Given the description of an element on the screen output the (x, y) to click on. 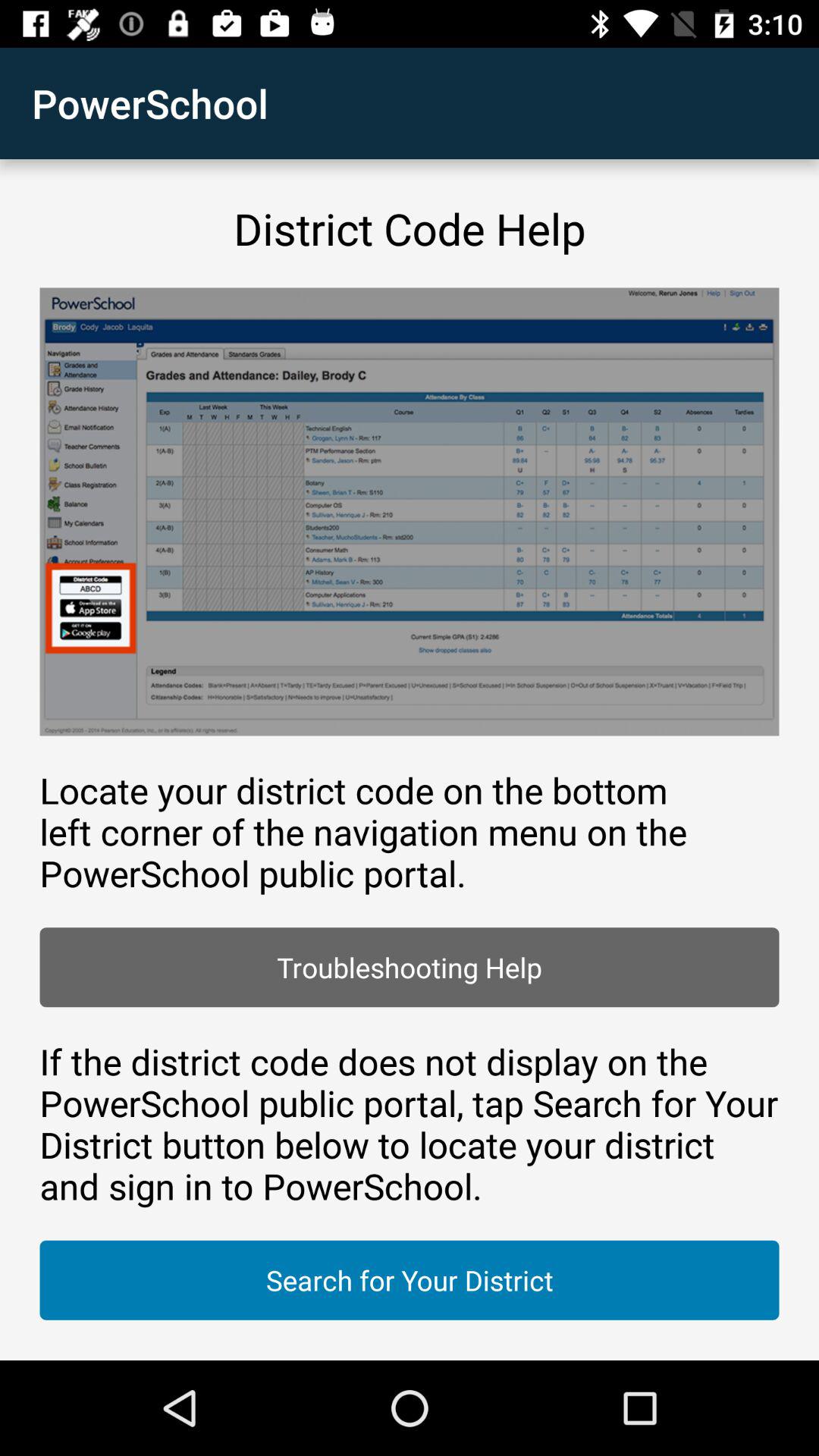
launch troubleshooting help item (409, 967)
